Given the description of an element on the screen output the (x, y) to click on. 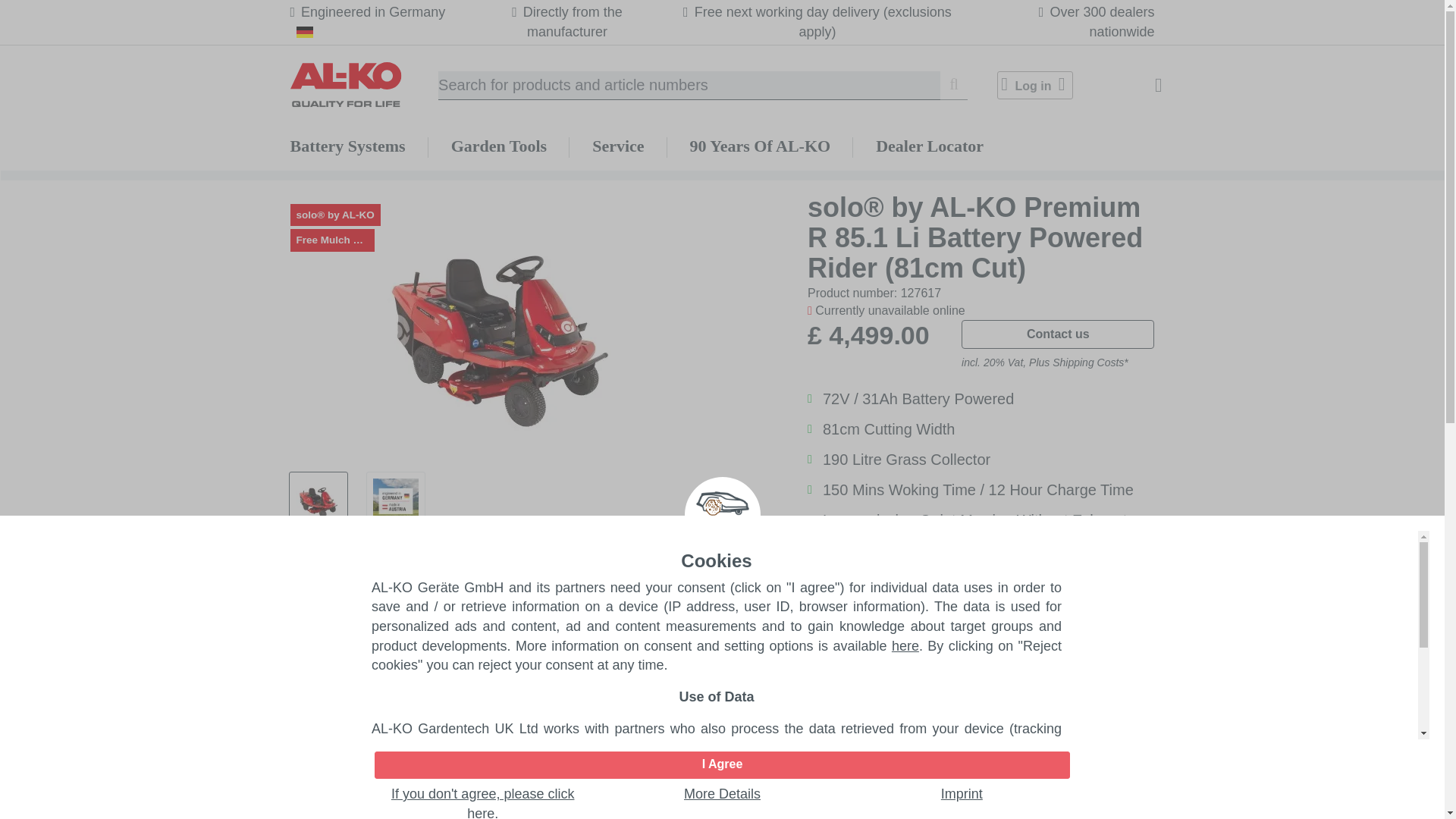
Garden Tools (498, 145)
Battery Systems (347, 145)
Log in (1034, 85)
